Given the description of an element on the screen output the (x, y) to click on. 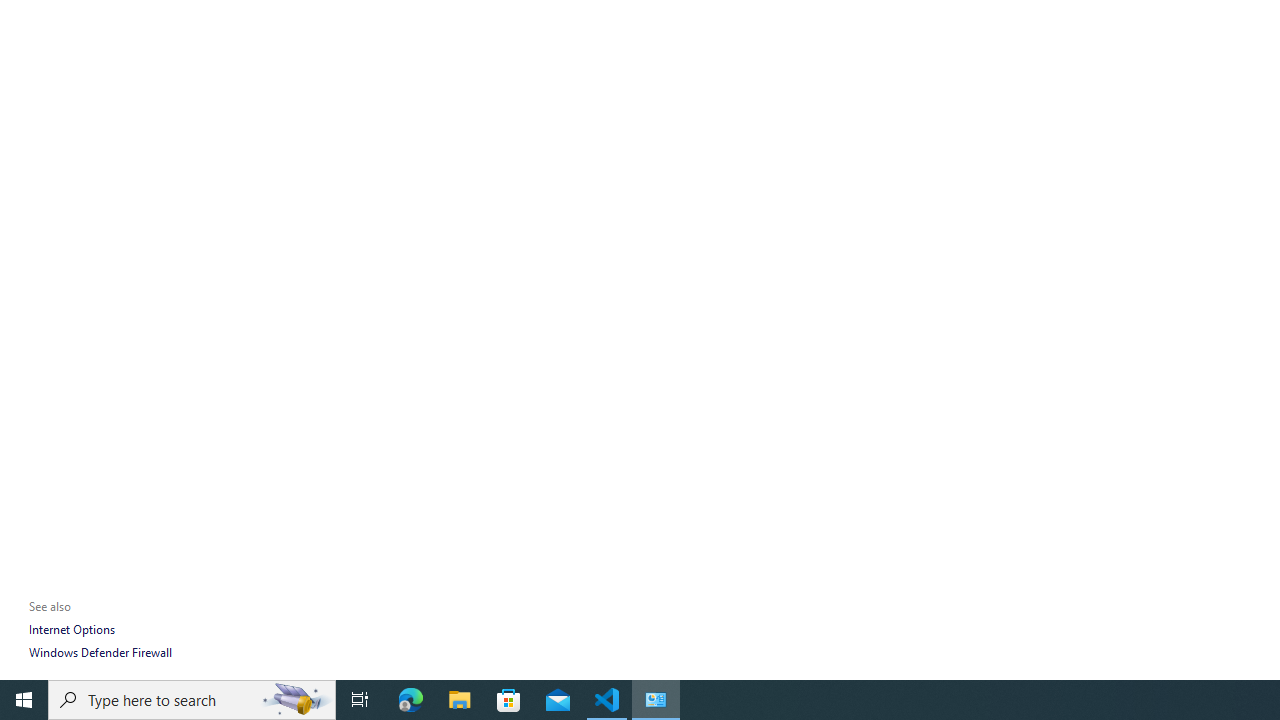
Control Panel - 1 running window (656, 699)
Internet Options (71, 629)
Windows Defender Firewall (100, 652)
